Given the description of an element on the screen output the (x, y) to click on. 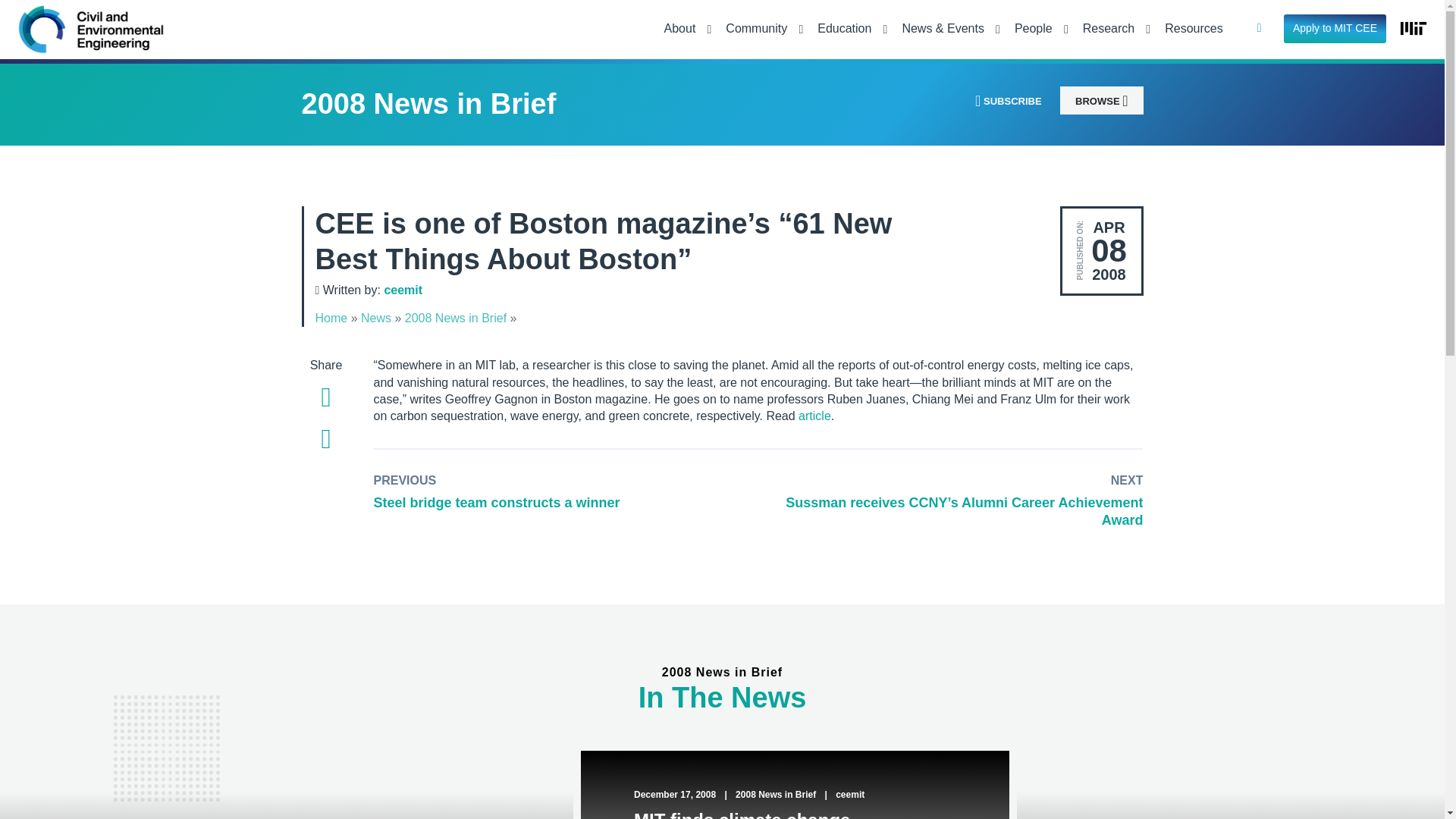
Posts by ceemit (403, 289)
Community (760, 29)
Education (847, 29)
SUBSCRIBE (1008, 100)
People (1037, 29)
About (683, 29)
